Given the description of an element on the screen output the (x, y) to click on. 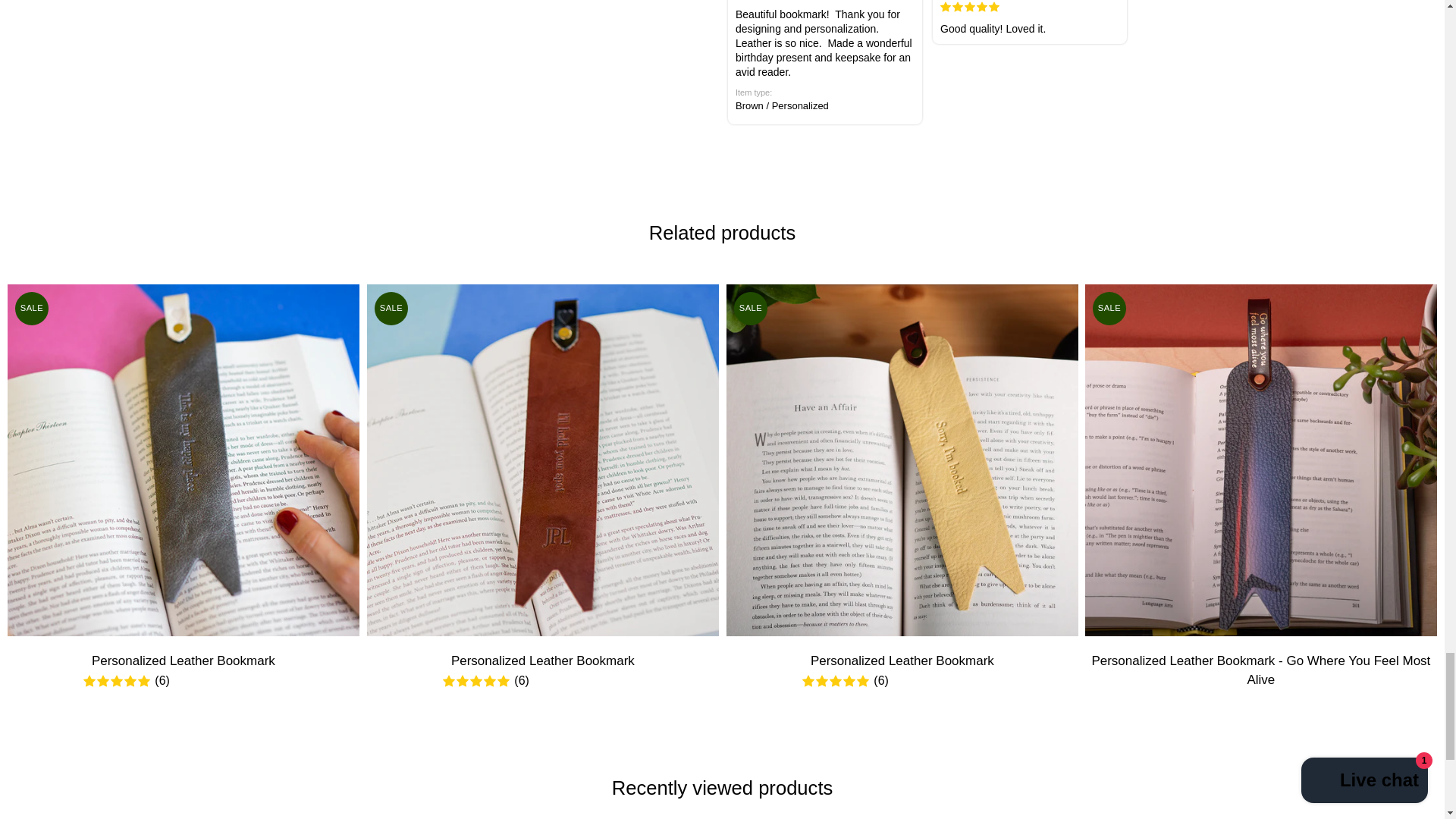
Personalized Leather Bookmark (902, 460)
Personalized Leather Bookmark (542, 460)
Personalized Leather Bookmark (183, 460)
Personalized Leather Bookmark - Go Where You Feel Most Alive (1260, 460)
